Given the description of an element on the screen output the (x, y) to click on. 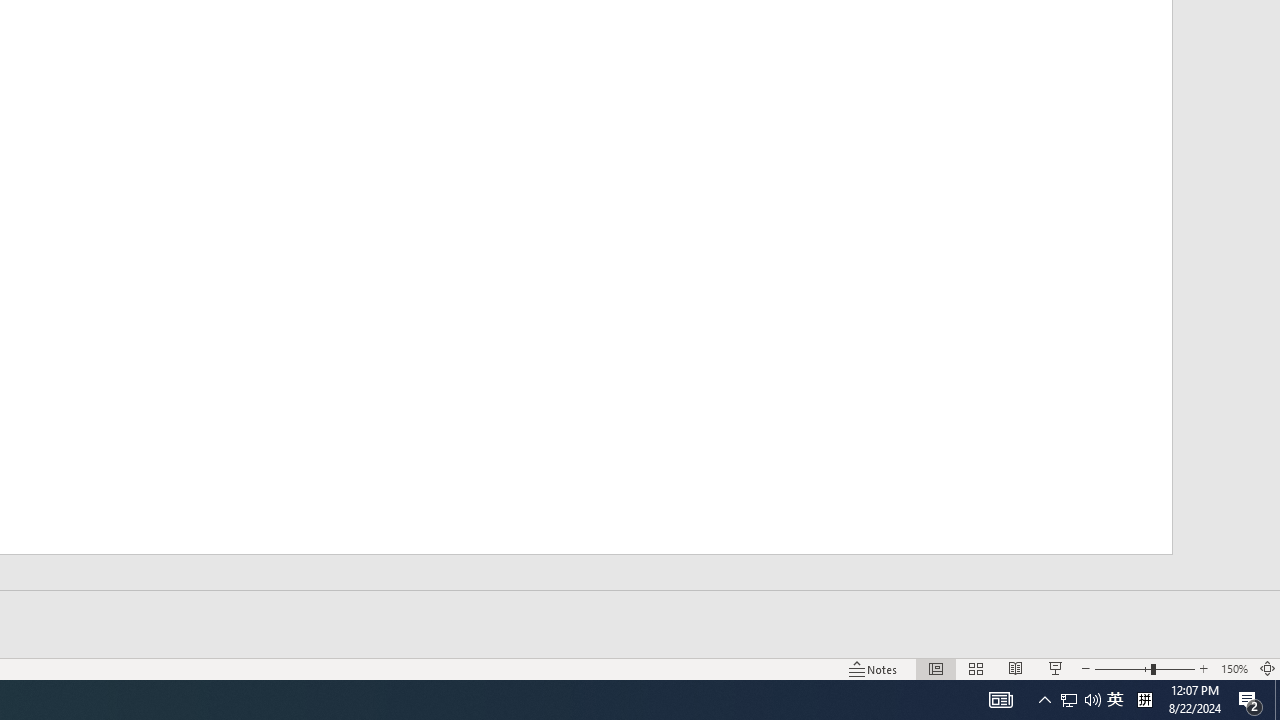
Zoom 150% (1234, 668)
